Given the description of an element on the screen output the (x, y) to click on. 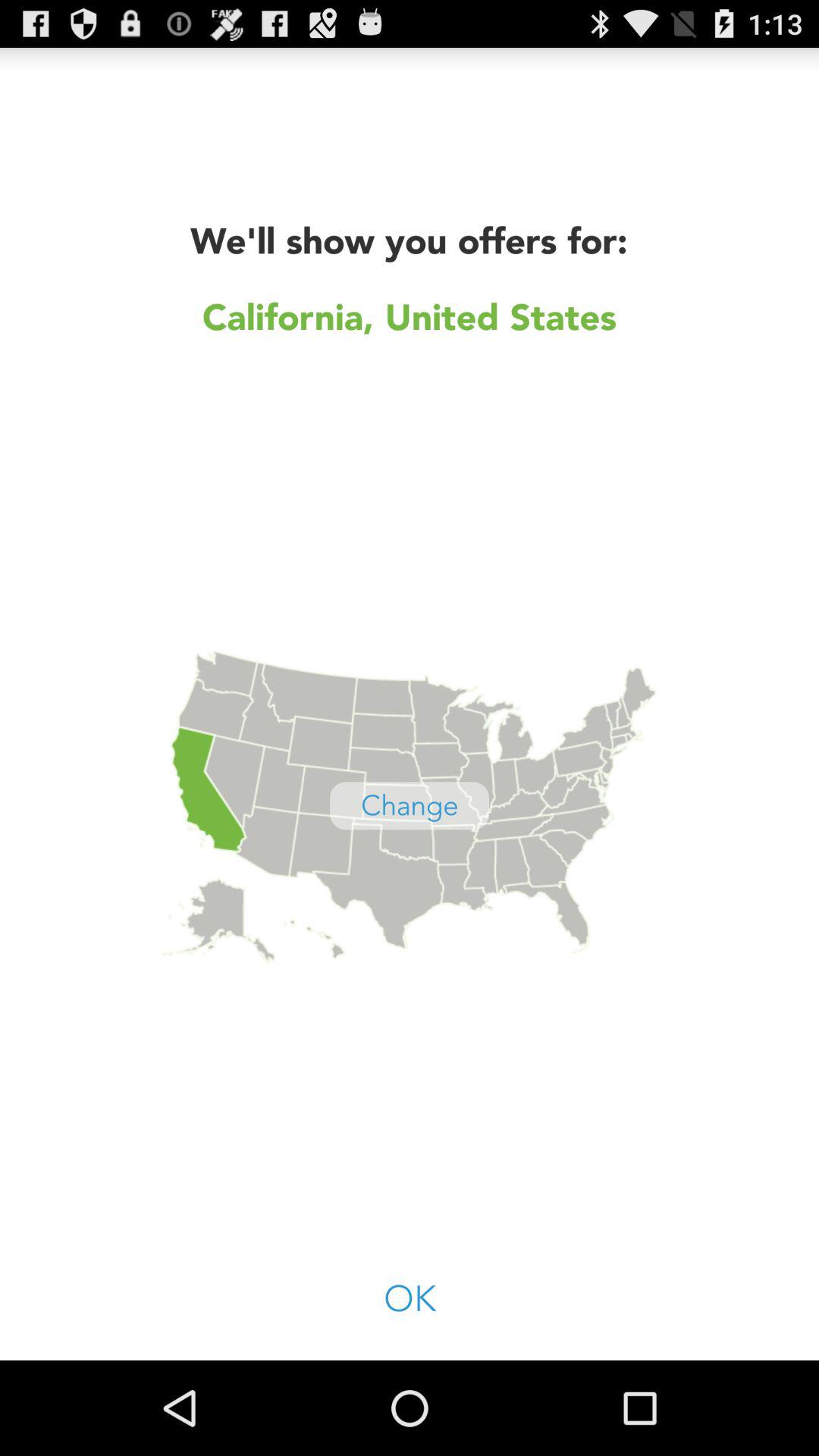
click the icon at the bottom (409, 1300)
